Given the description of an element on the screen output the (x, y) to click on. 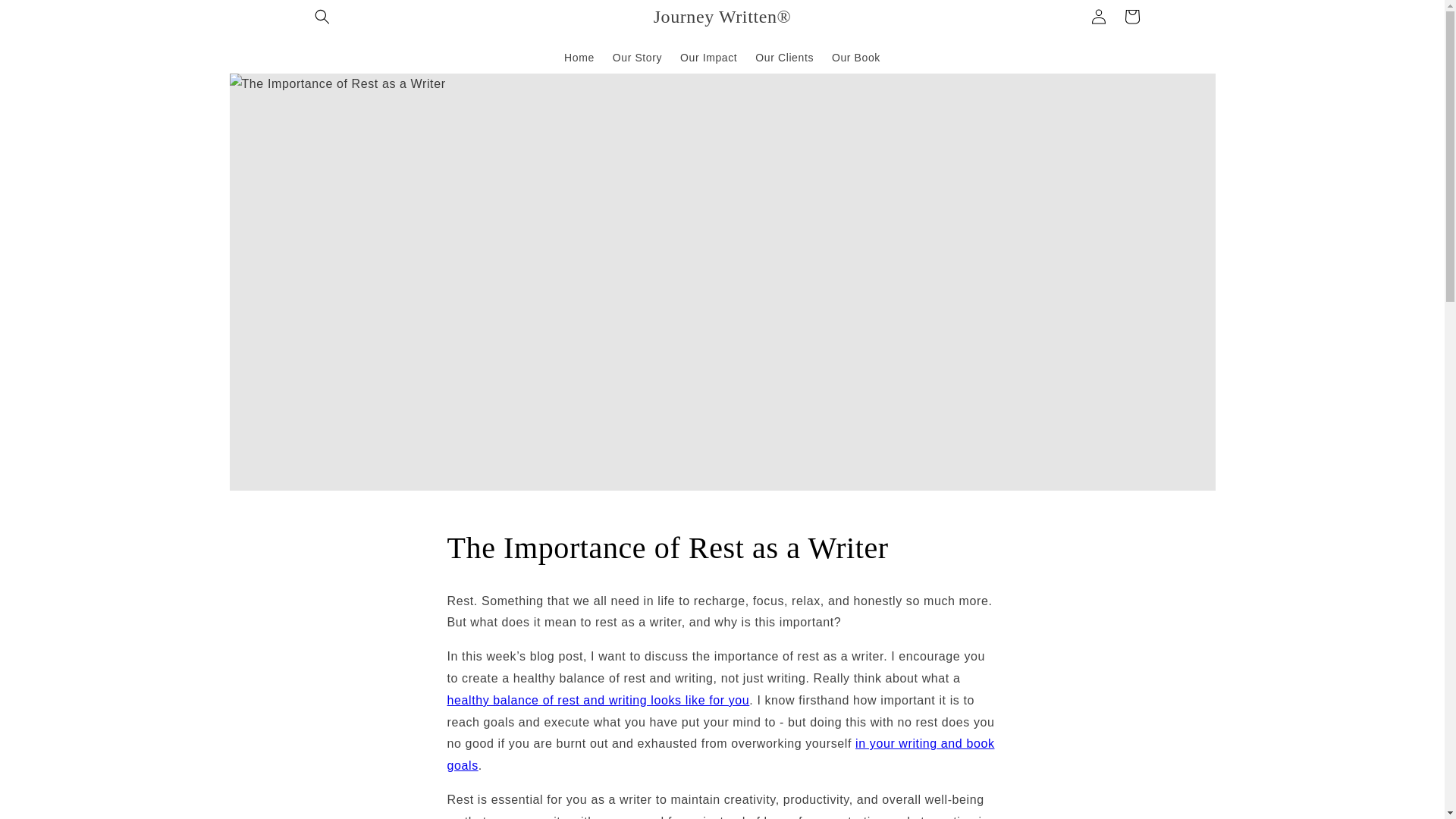
in your writing and book goals (720, 754)
Cart (1131, 16)
Our Impact (708, 56)
Our Book (855, 56)
healthy balance of rest and writing looks like for you (597, 699)
Home (579, 56)
Our Clients (783, 56)
Skip to content (45, 17)
Log in (1098, 16)
